Given the description of an element on the screen output the (x, y) to click on. 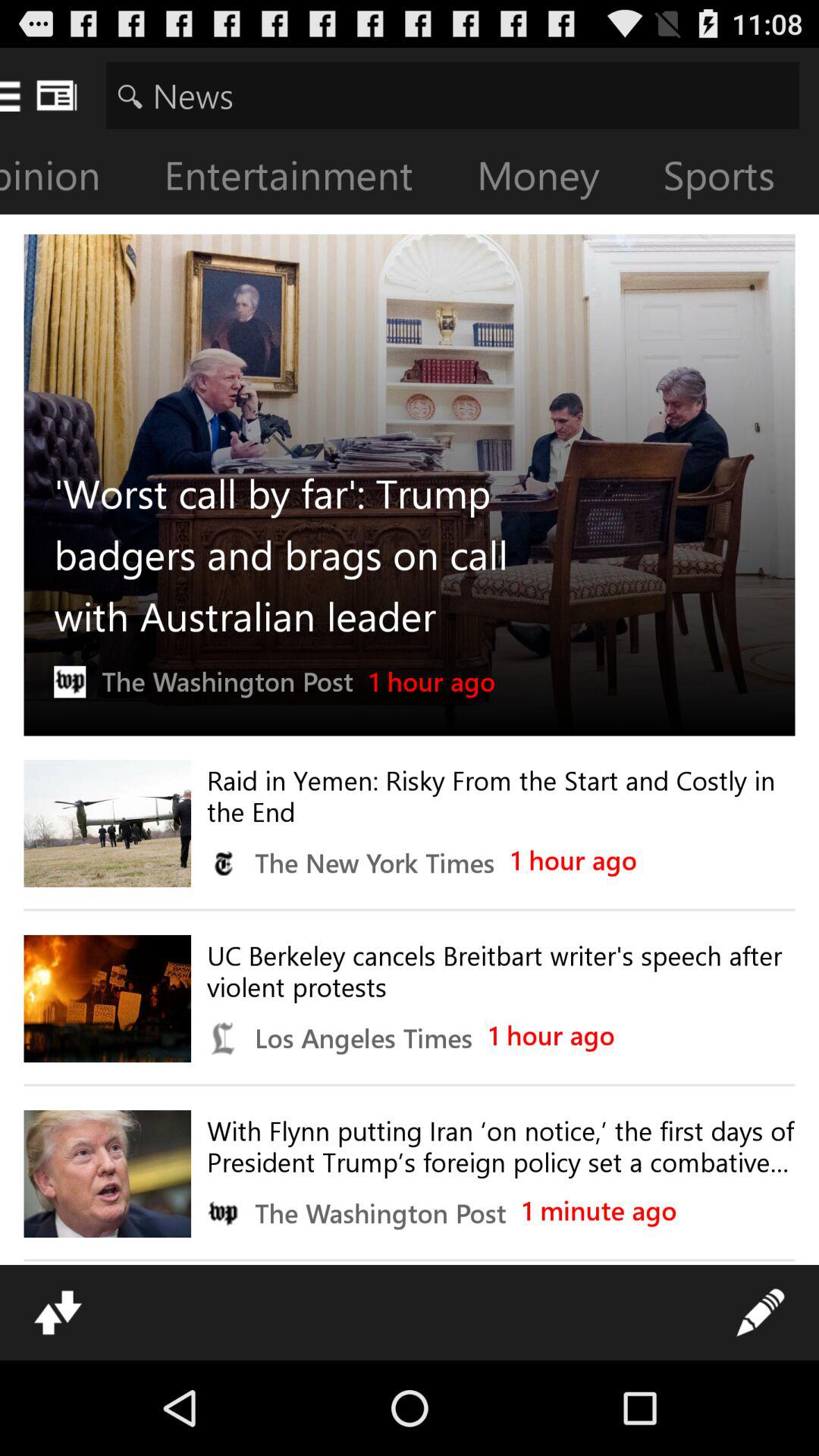
swipe to entertainment (300, 178)
